Given the description of an element on the screen output the (x, y) to click on. 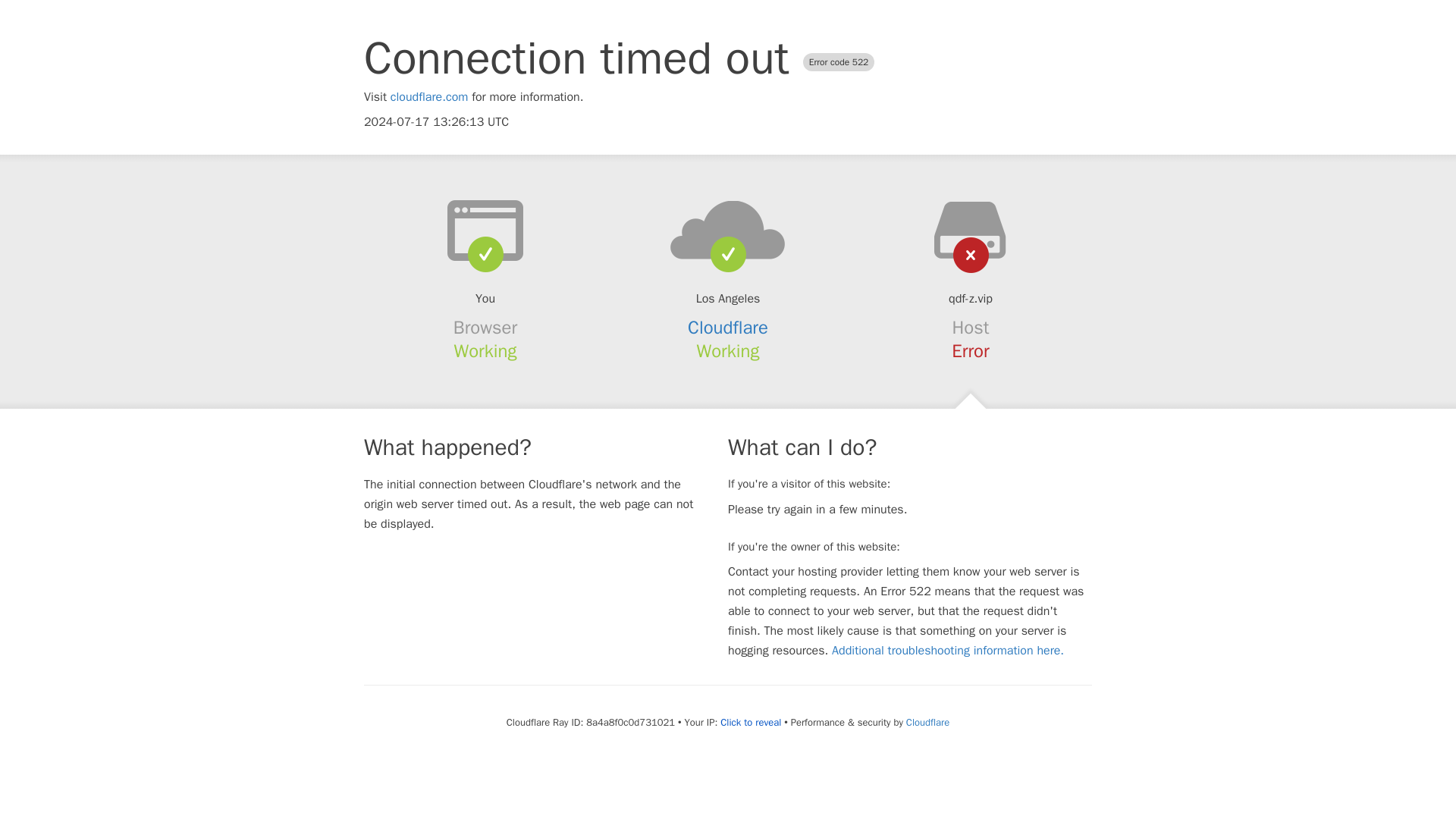
Click to reveal (750, 722)
Additional troubleshooting information here. (947, 650)
cloudflare.com (429, 96)
Cloudflare (727, 327)
Cloudflare (927, 721)
